Given the description of an element on the screen output the (x, y) to click on. 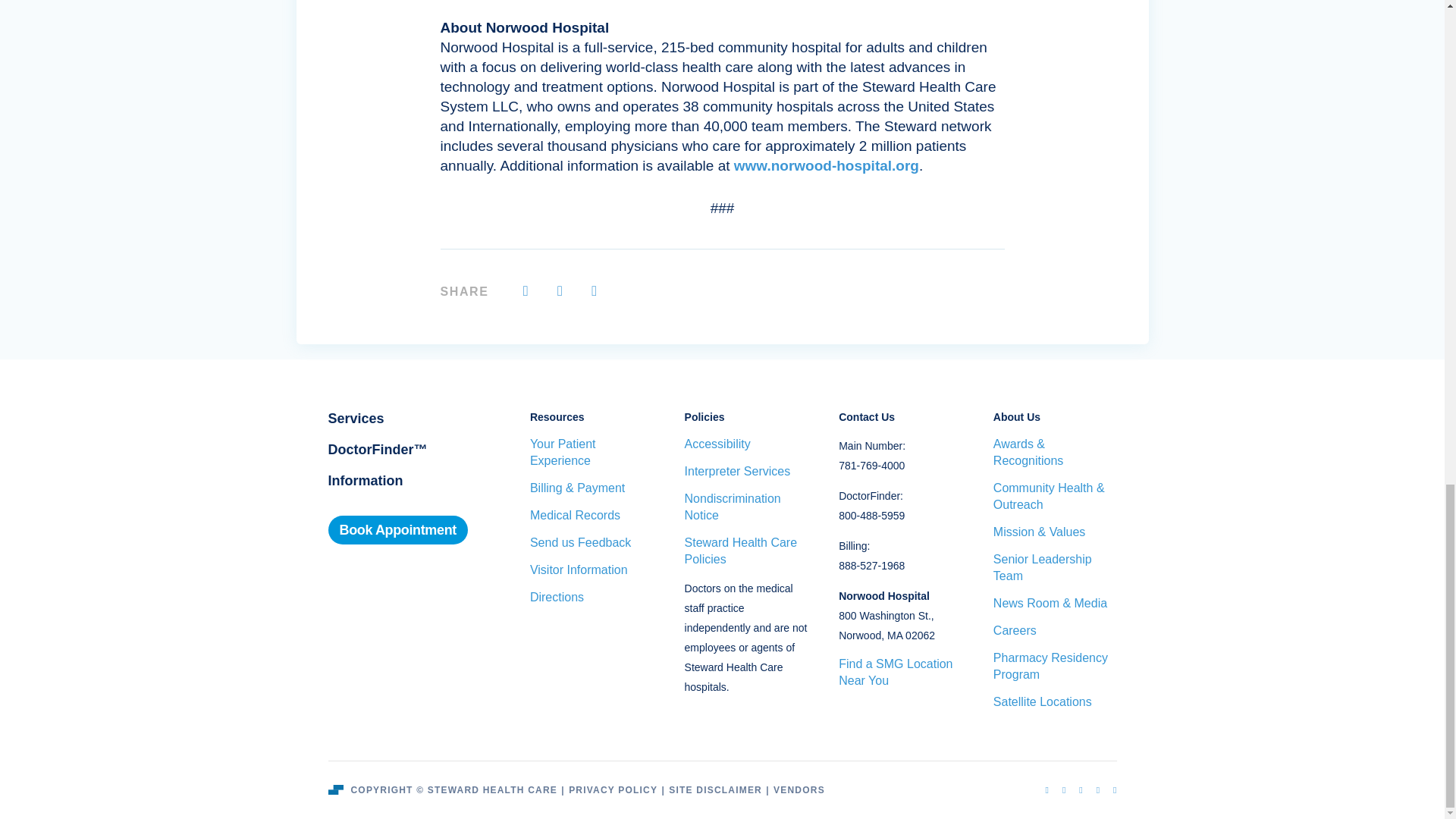
Services (355, 418)
Accessibility (746, 443)
Information (365, 480)
Send us Feedback (591, 542)
Medical Records (591, 515)
Book Appointment (397, 529)
www.norwood-hospital.org (823, 165)
Nondiscrimination Notice (746, 507)
Your Patient Experience (591, 452)
Directions (591, 597)
